Given the description of an element on the screen output the (x, y) to click on. 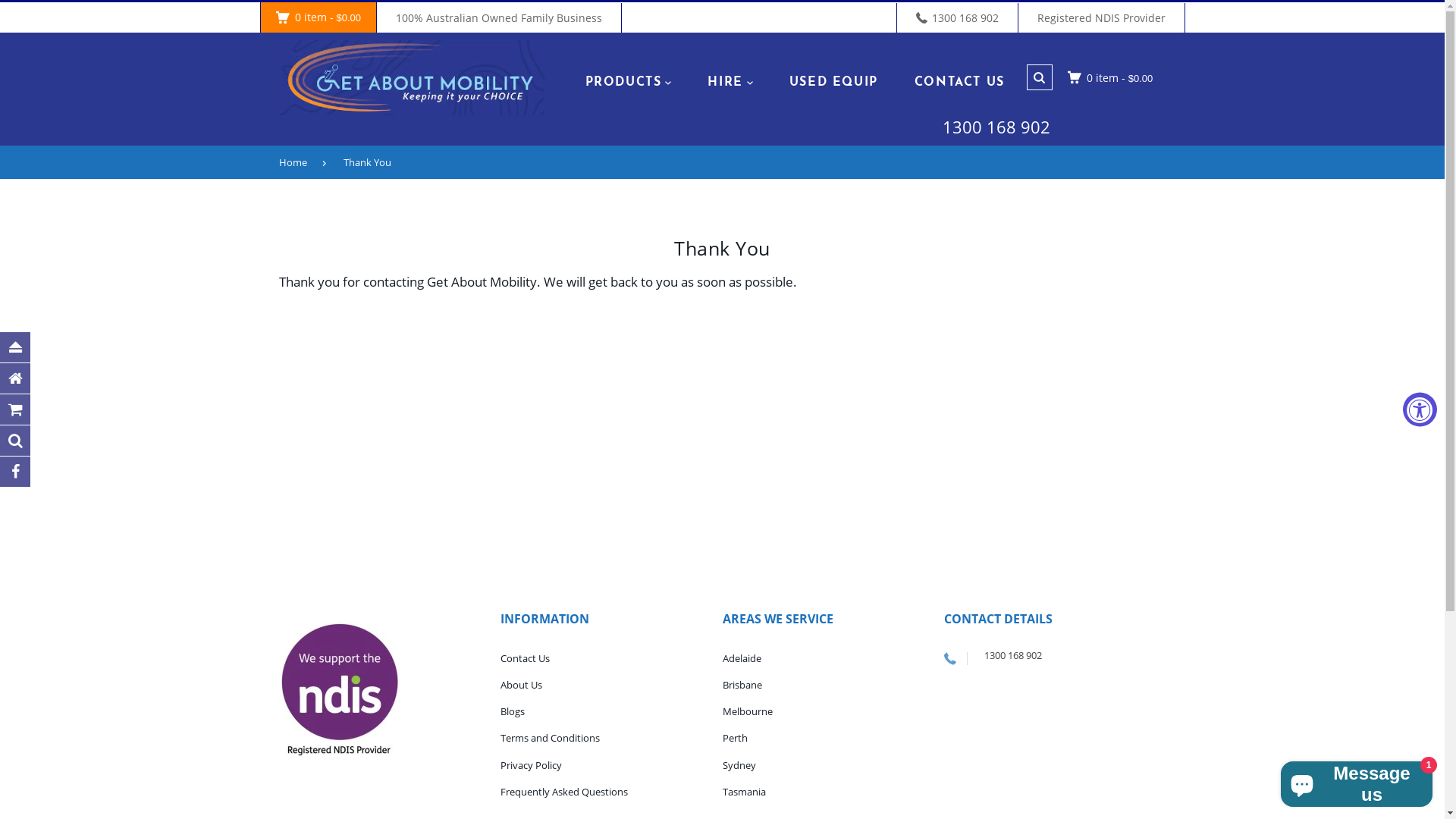
Brisbane Element type: text (741, 684)
Perth Element type: text (733, 737)
Frequently Asked Questions Element type: text (563, 791)
USED EQUIP Element type: text (833, 83)
0 item - $0.00 Element type: text (318, 17)
0 item - $0.00 Element type: text (1110, 77)
Blogs Element type: text (512, 711)
Tasmania Element type: text (743, 791)
1300 168 902 Element type: text (996, 126)
1300 168 902 Element type: text (1012, 655)
Contact Us Element type: text (524, 658)
HIRE Element type: text (729, 83)
Privacy Policy Element type: text (530, 764)
Terms and Conditions Element type: text (549, 737)
Thank You Element type: text (373, 162)
Melbourne Element type: text (746, 711)
Home Element type: text (300, 162)
1300 168 902 Element type: text (956, 17)
Adelaide Element type: text (740, 658)
CONTACT US Element type: text (959, 83)
About Us Element type: text (521, 684)
PRODUCTS Element type: text (628, 83)
Shopify online store chat Element type: hover (1356, 780)
Sydney Element type: text (738, 764)
